Given the description of an element on the screen output the (x, y) to click on. 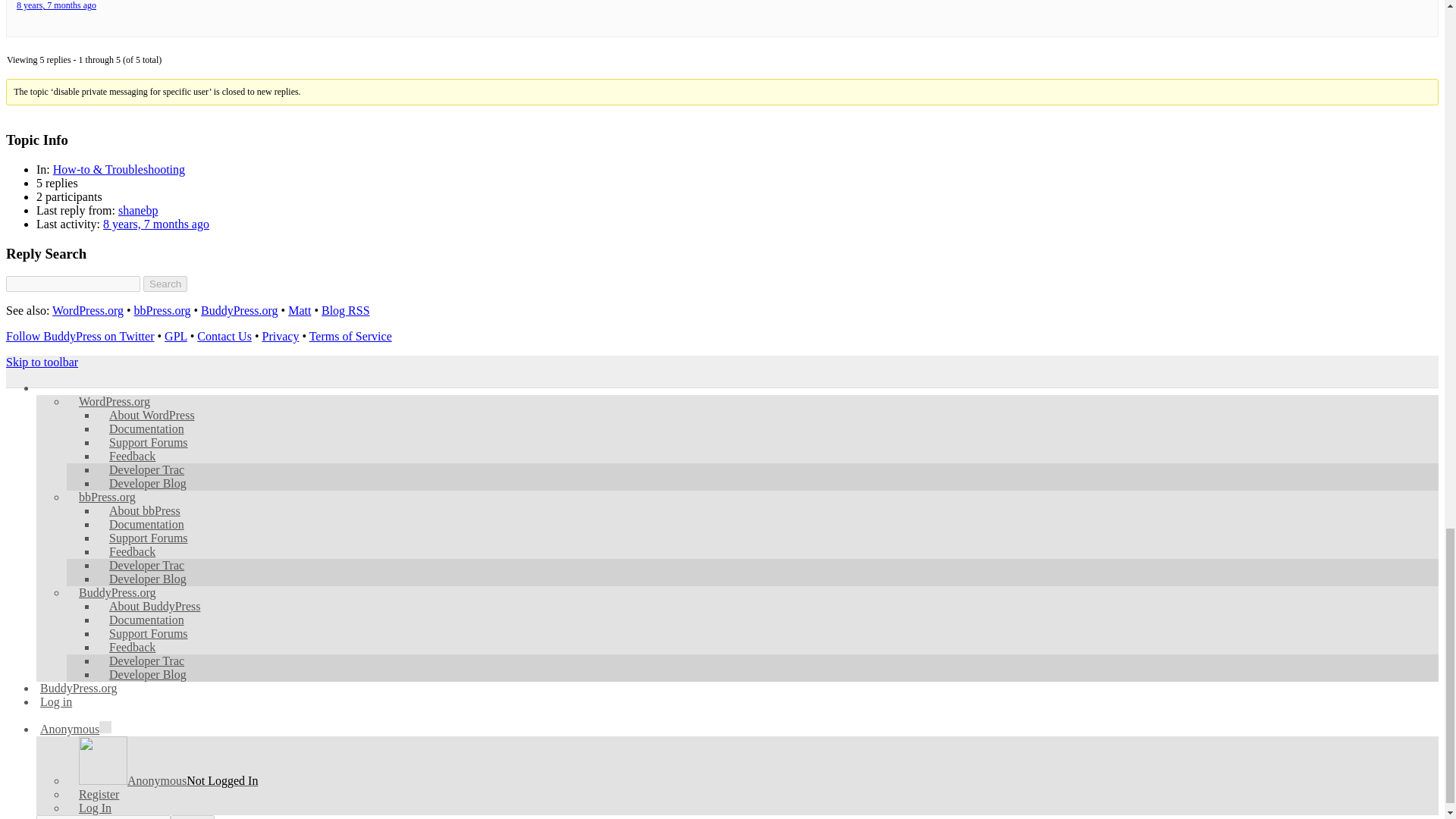
GPL (175, 336)
Blog RSS (345, 309)
Matt (299, 309)
8 years, 7 months ago (156, 223)
shanebp (137, 210)
Follow BuddyPress on Twitter (79, 336)
WordPress.org (87, 309)
Contact Us (223, 336)
Search (164, 283)
bbPress.org (161, 309)
